Given the description of an element on the screen output the (x, y) to click on. 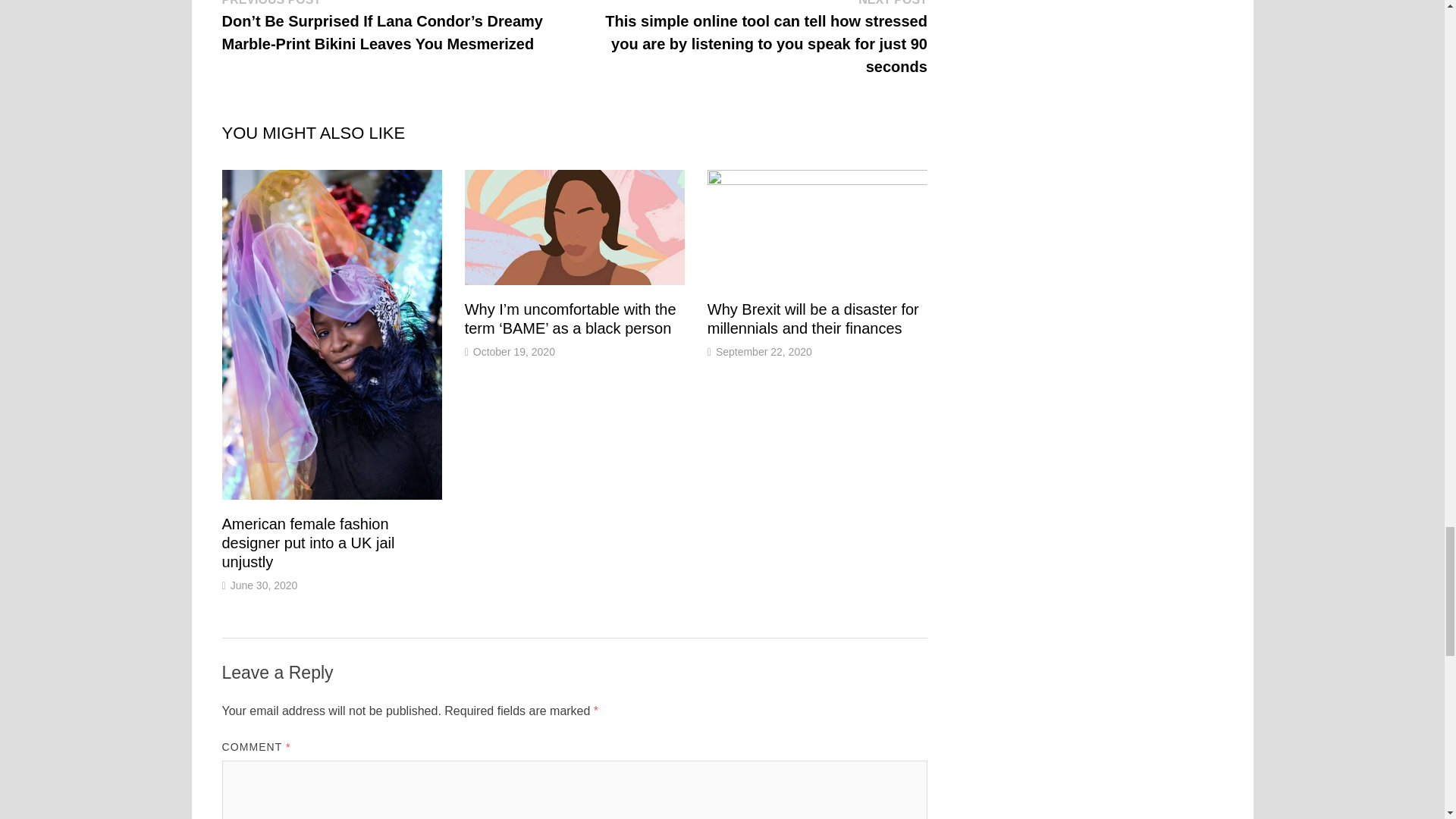
September 22, 2020 (764, 351)
June 30, 2020 (264, 585)
American female fashion designer put into a UK jail unjustly (307, 542)
American female fashion designer put into a UK jail unjustly (307, 542)
October 19, 2020 (513, 351)
